Given the description of an element on the screen output the (x, y) to click on. 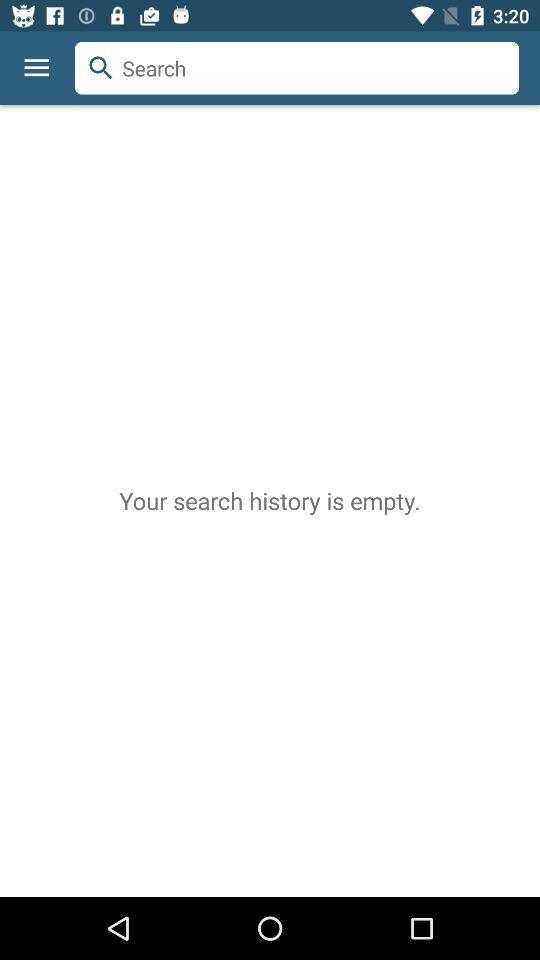
launch item at the top (297, 67)
